Given the description of an element on the screen output the (x, y) to click on. 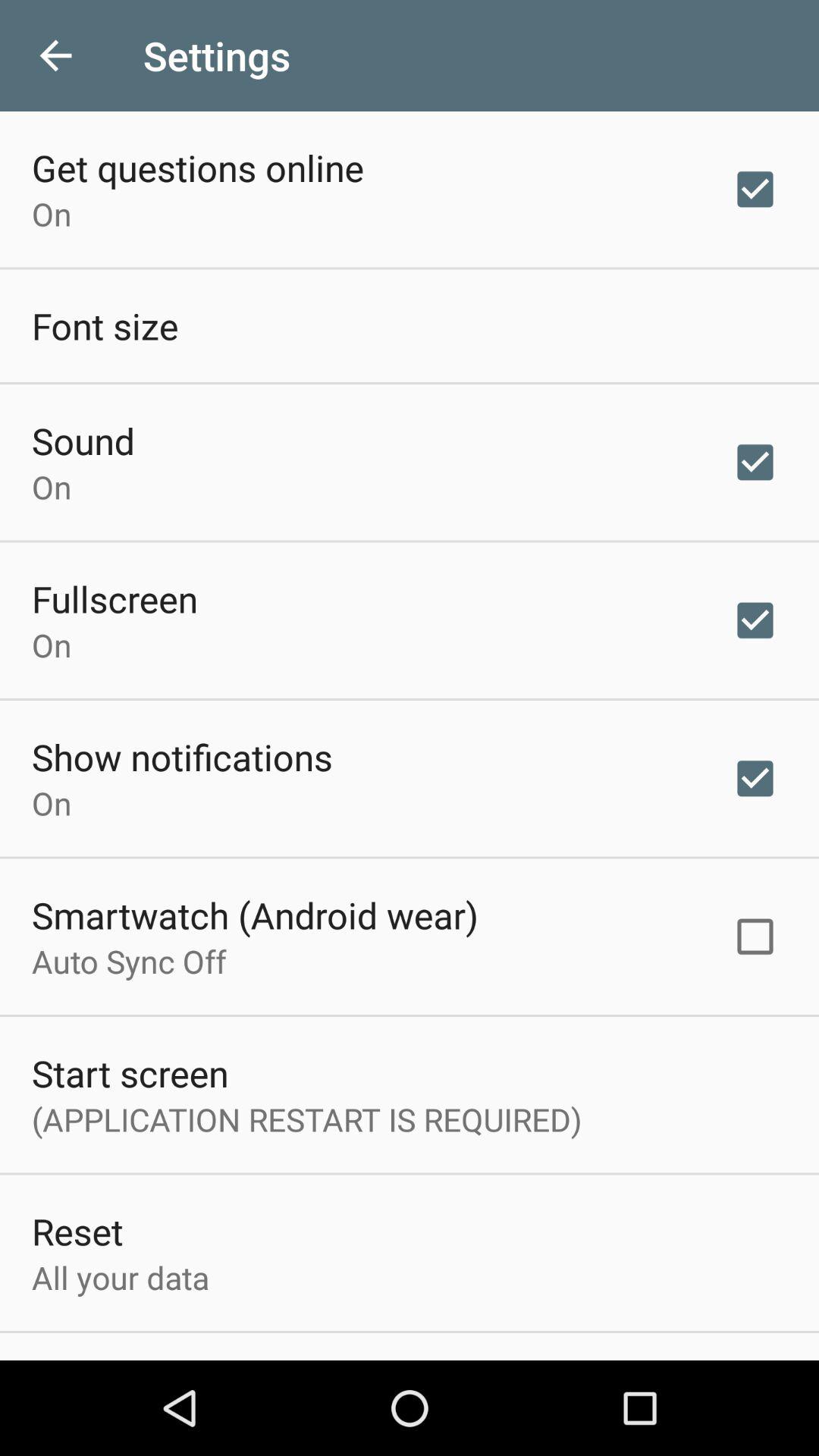
choose smartwatch (android wear) item (254, 914)
